Given the description of an element on the screen output the (x, y) to click on. 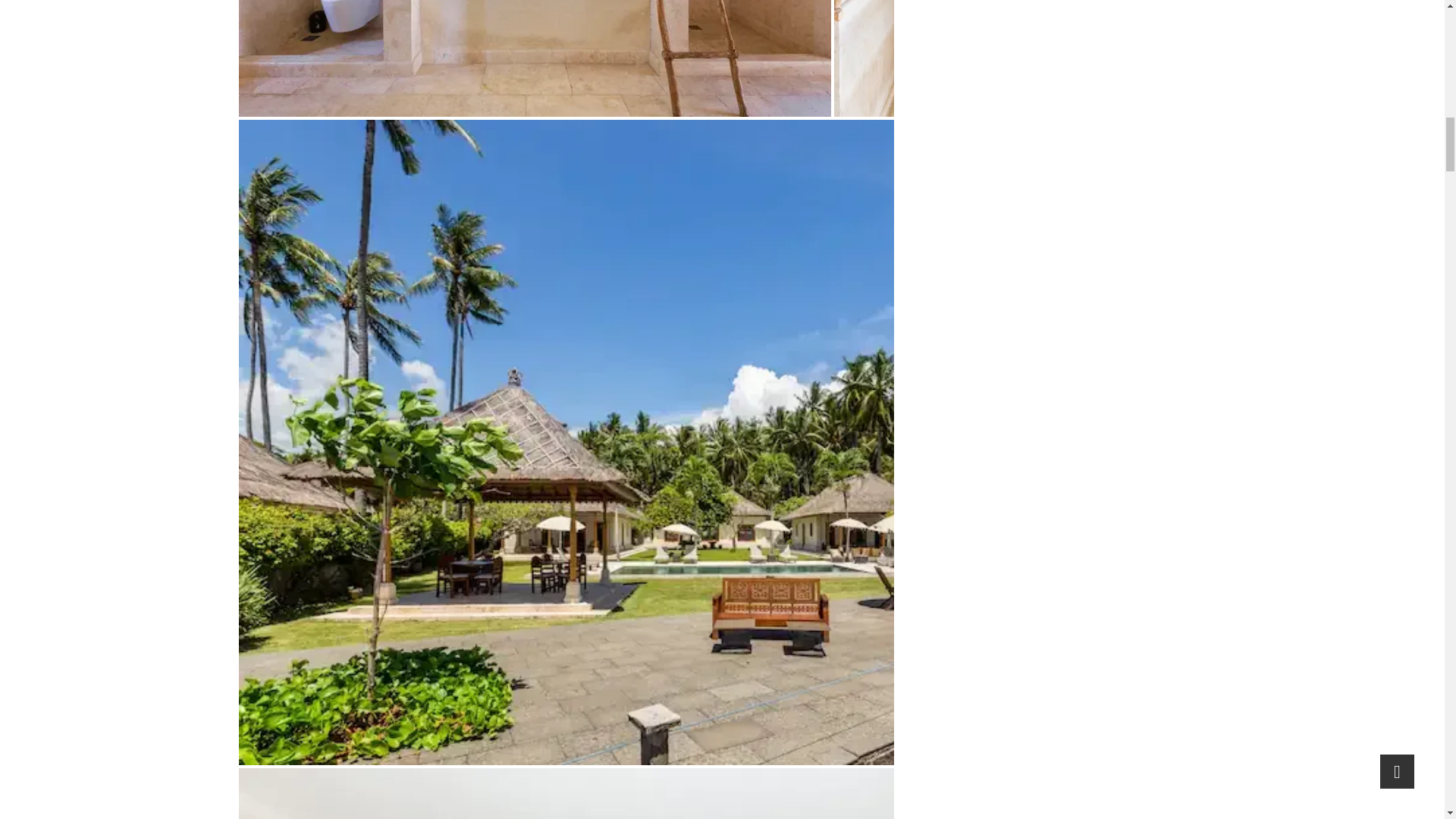
Villa-Salema-1381-4f1f-845e-b24d329a872e (965, 58)
Villa-Salema-0dee-4060-a9de-e7638dfb7b3f (533, 58)
